Given the description of an element on the screen output the (x, y) to click on. 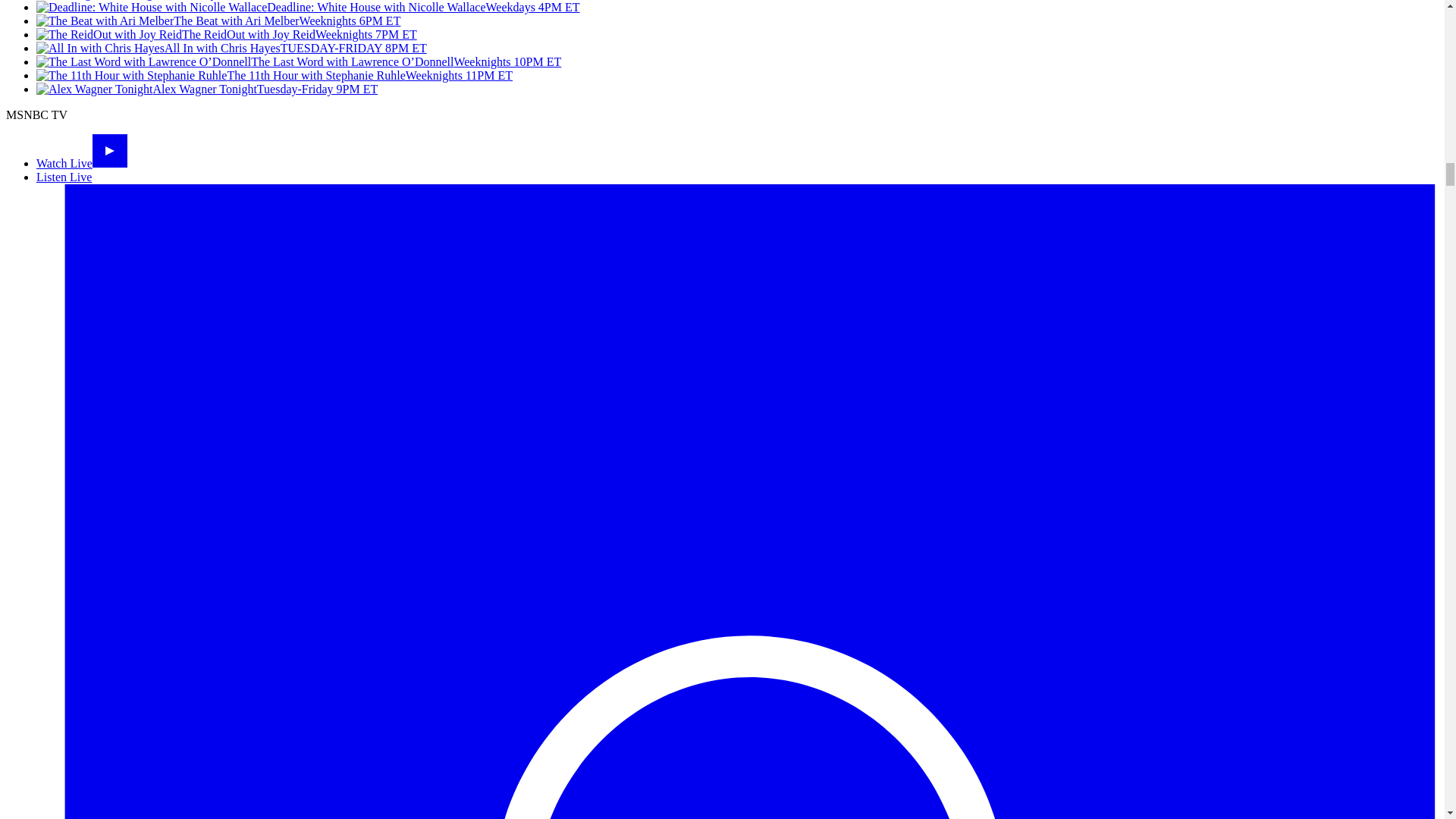
The 11th Hour with Stephanie RuhleWeeknights 11PM ET (274, 74)
The Beat with Ari MelberWeeknights 6PM ET (218, 20)
Alex Wagner TonightTuesday-Friday 9PM ET (206, 88)
Deadline: White House with Nicolle WallaceWeekdays 4PM ET (307, 6)
The ReidOut with Joy ReidWeeknights 7PM ET (226, 33)
Watch Live (82, 163)
All In with Chris HayesTUESDAY-FRIDAY 8PM ET (231, 47)
